Given the description of an element on the screen output the (x, y) to click on. 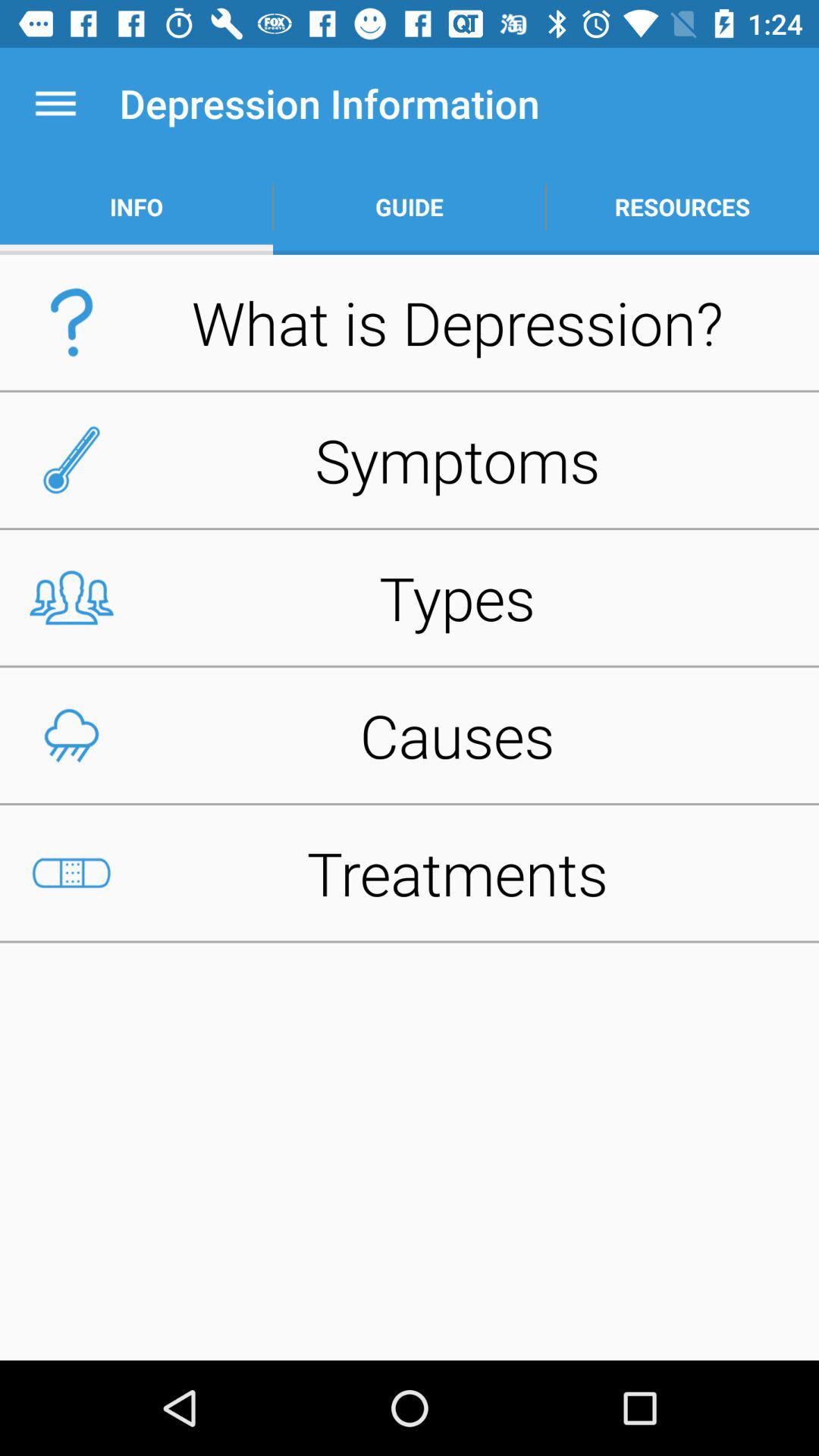
press icon above what is depression? icon (136, 206)
